Given the description of an element on the screen output the (x, y) to click on. 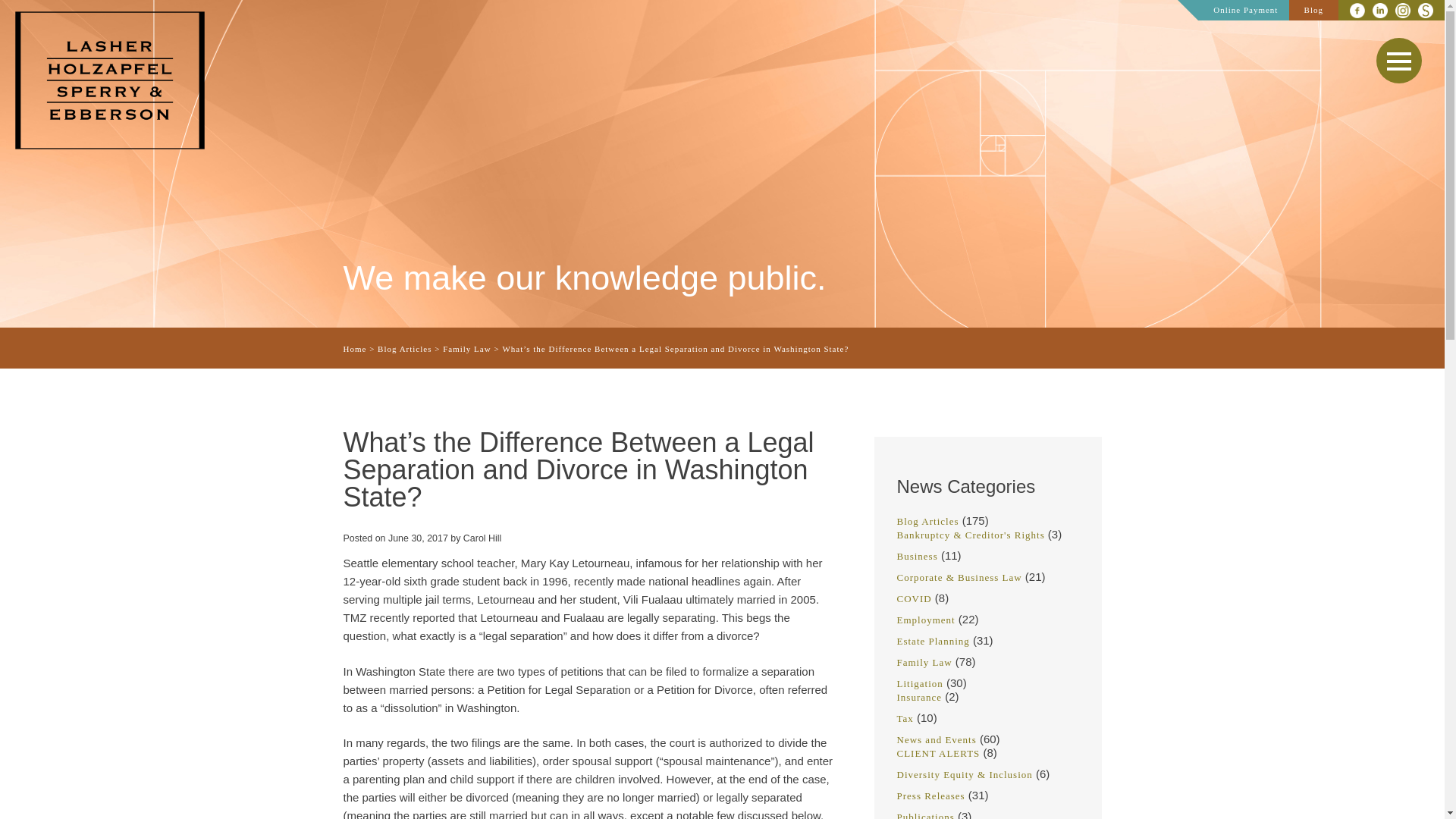
Primary Menu (1398, 60)
Home (354, 347)
Blog (1313, 9)
Online Payment (1245, 9)
